Given the description of an element on the screen output the (x, y) to click on. 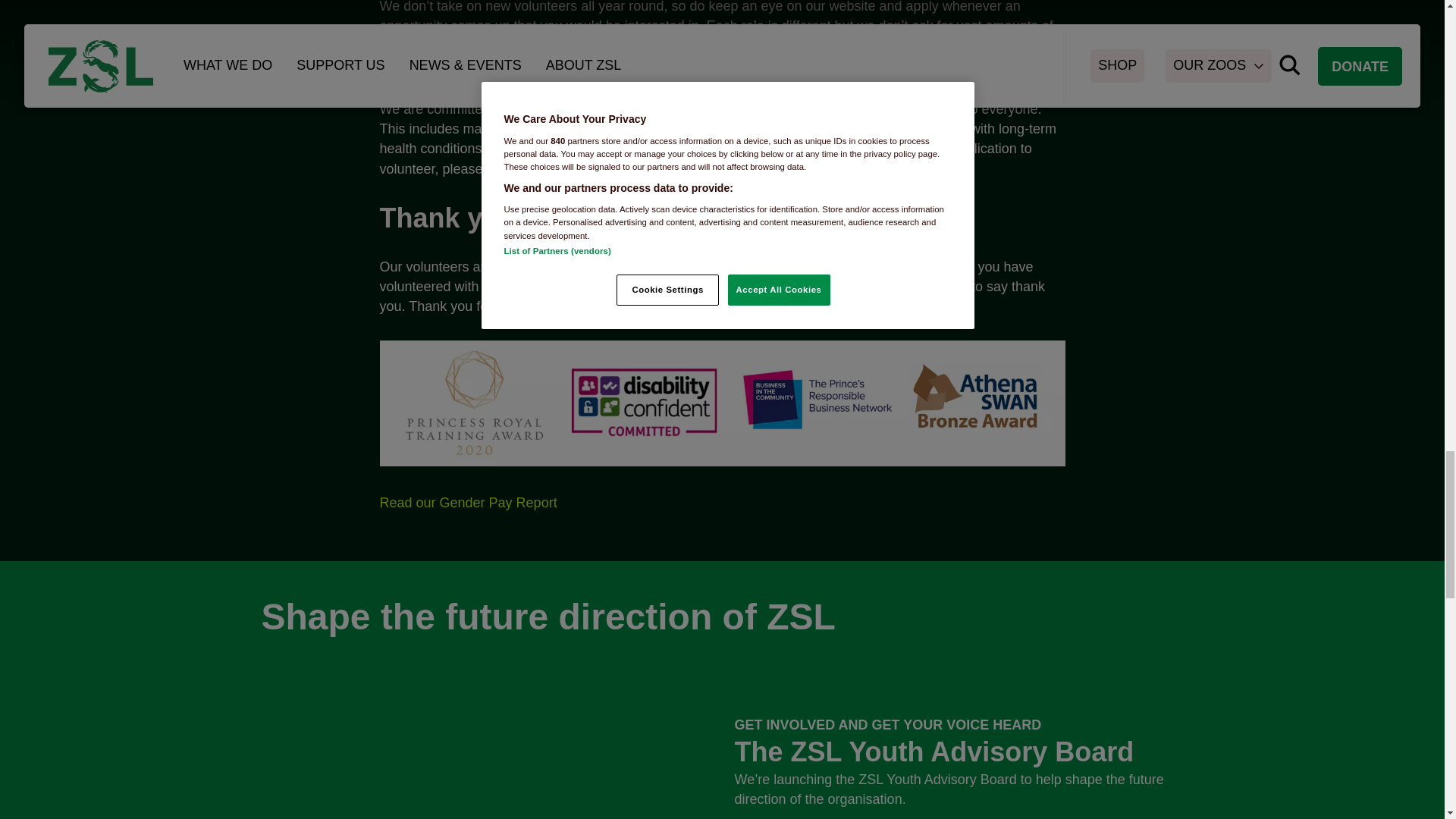
About ZSL (673, 64)
About ZSL (467, 502)
